Given the description of an element on the screen output the (x, y) to click on. 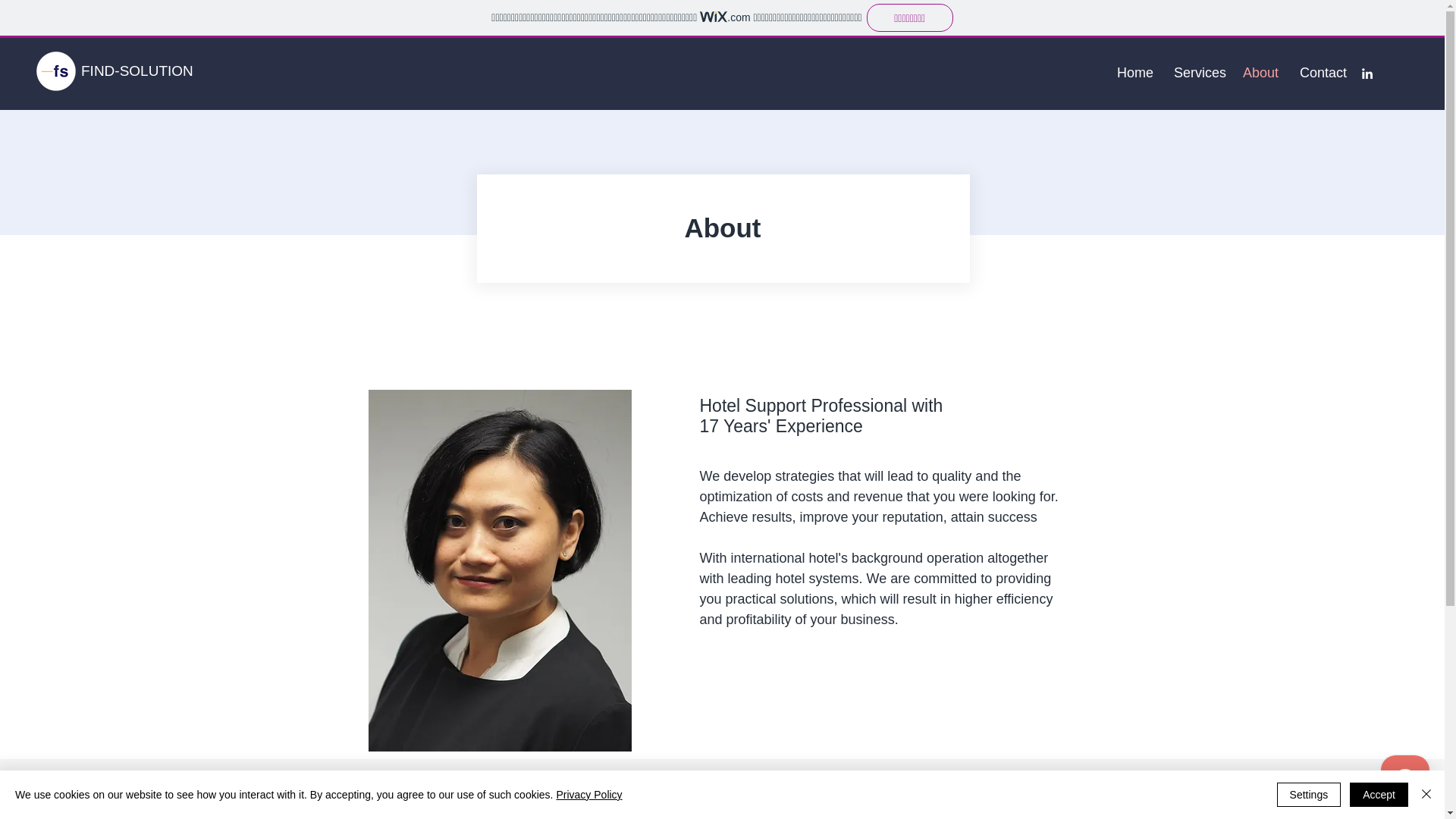
FIND-SOLUTION (137, 70)
Home (1133, 72)
About (1259, 72)
Contact (1321, 72)
Services (1196, 72)
Settings (1308, 794)
Accept (1378, 794)
Privacy Policy (588, 794)
